Given the description of an element on the screen output the (x, y) to click on. 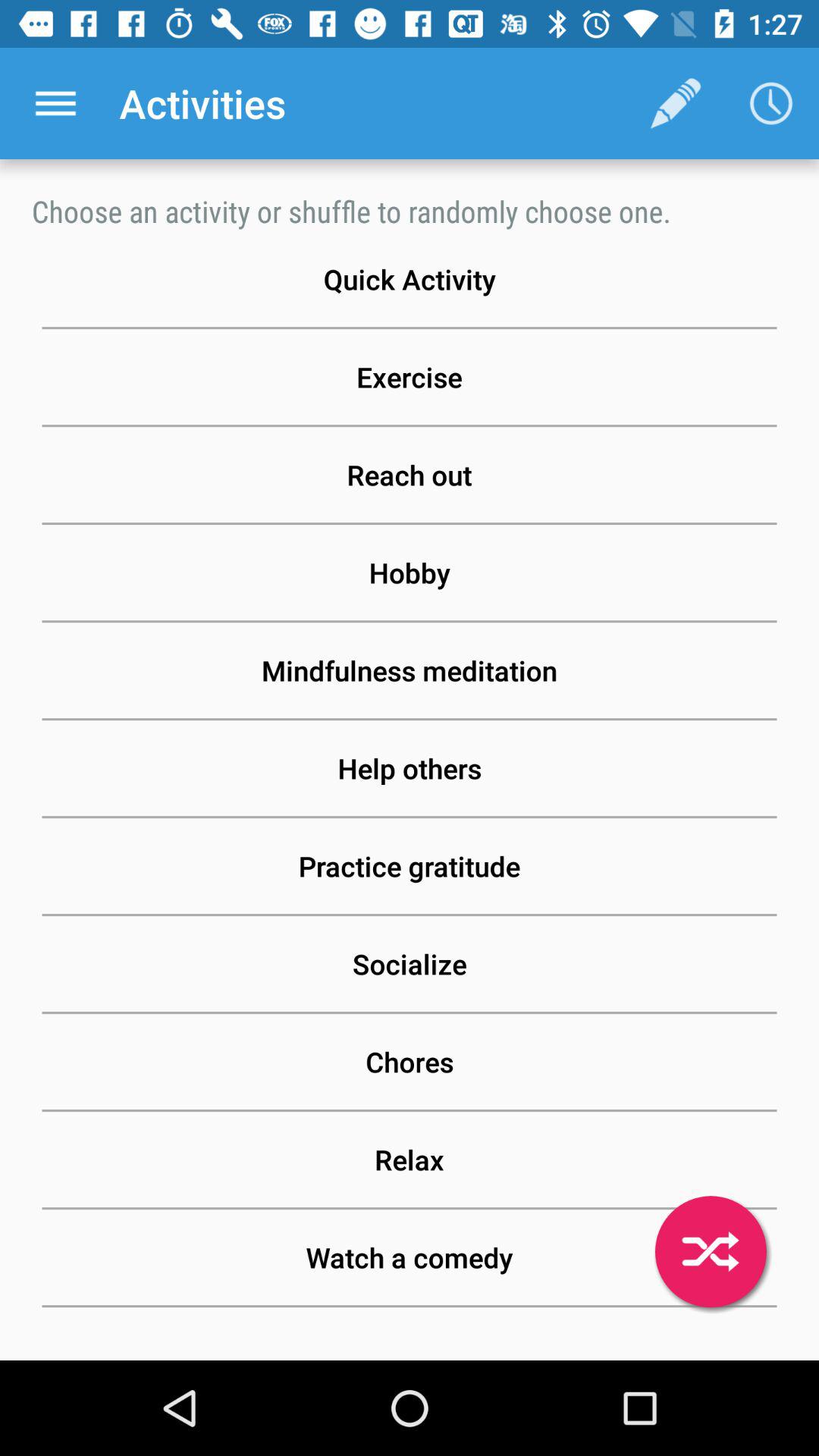
turn on the read a book icon (409, 1317)
